Given the description of an element on the screen output the (x, y) to click on. 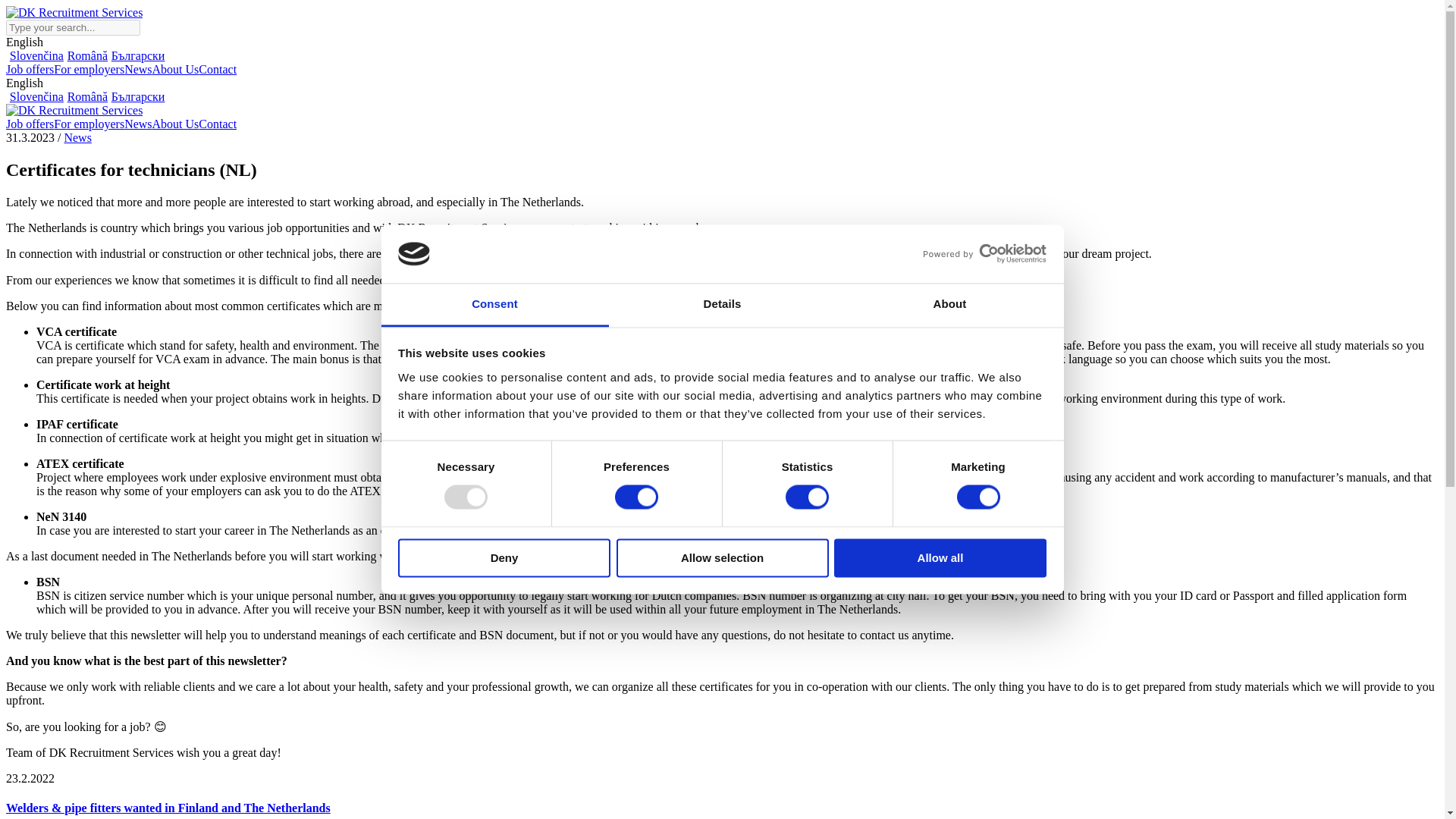
Details (721, 304)
Allow all (940, 557)
Allow selection (721, 557)
Consent (494, 304)
About (948, 304)
Deny (503, 557)
